Given the description of an element on the screen output the (x, y) to click on. 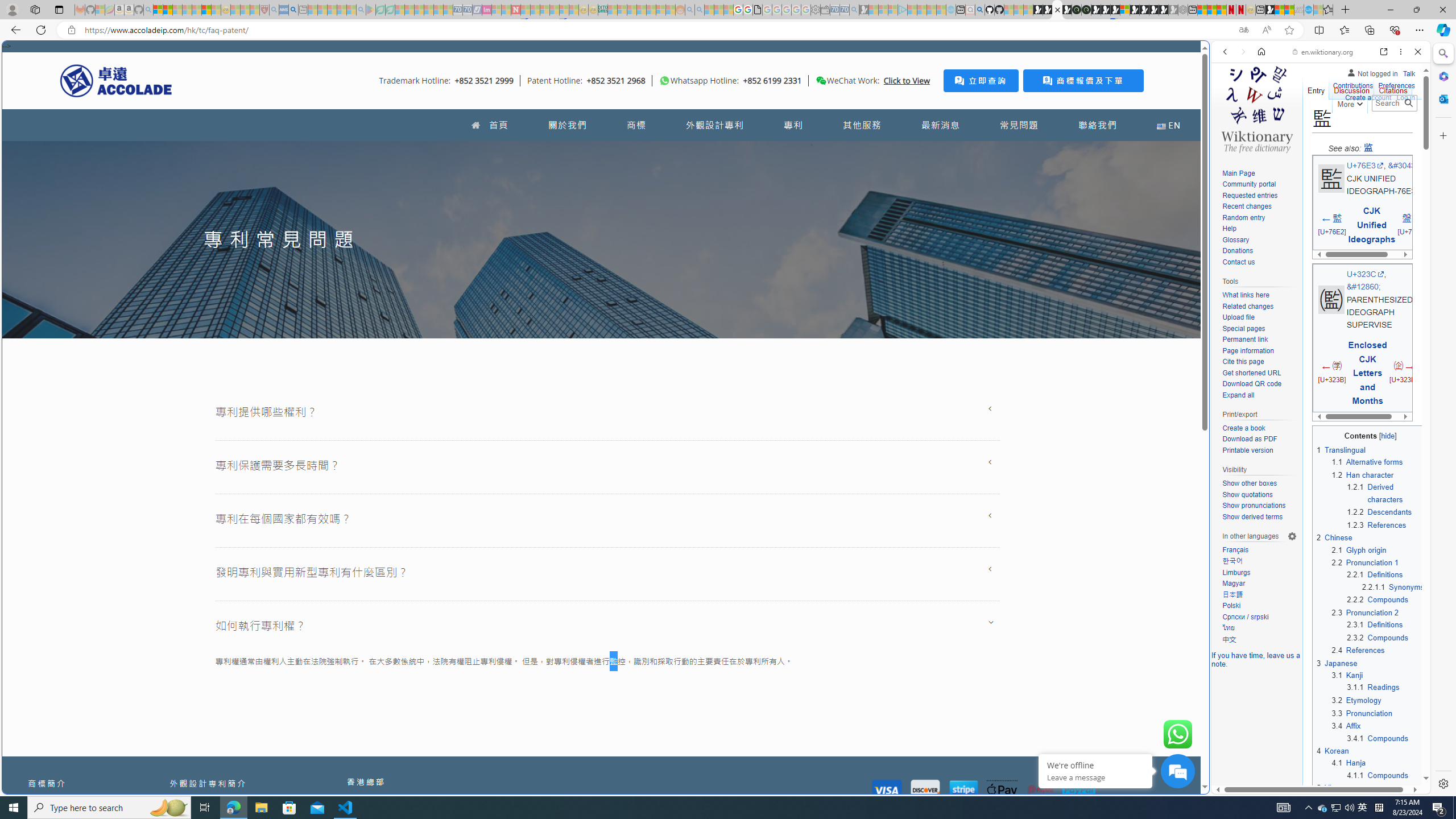
Show derived terms (1251, 516)
U+76E3 (1364, 165)
Talk (1408, 71)
3.2Etymology (1377, 700)
Play Zoo Boom in your browser | Games from Microsoft Start (1047, 9)
2.3.1Definitions (1385, 625)
Sign in to your account (1124, 9)
2.3.1 Definitions (1374, 625)
Show quotations (1259, 494)
